Given the description of an element on the screen output the (x, y) to click on. 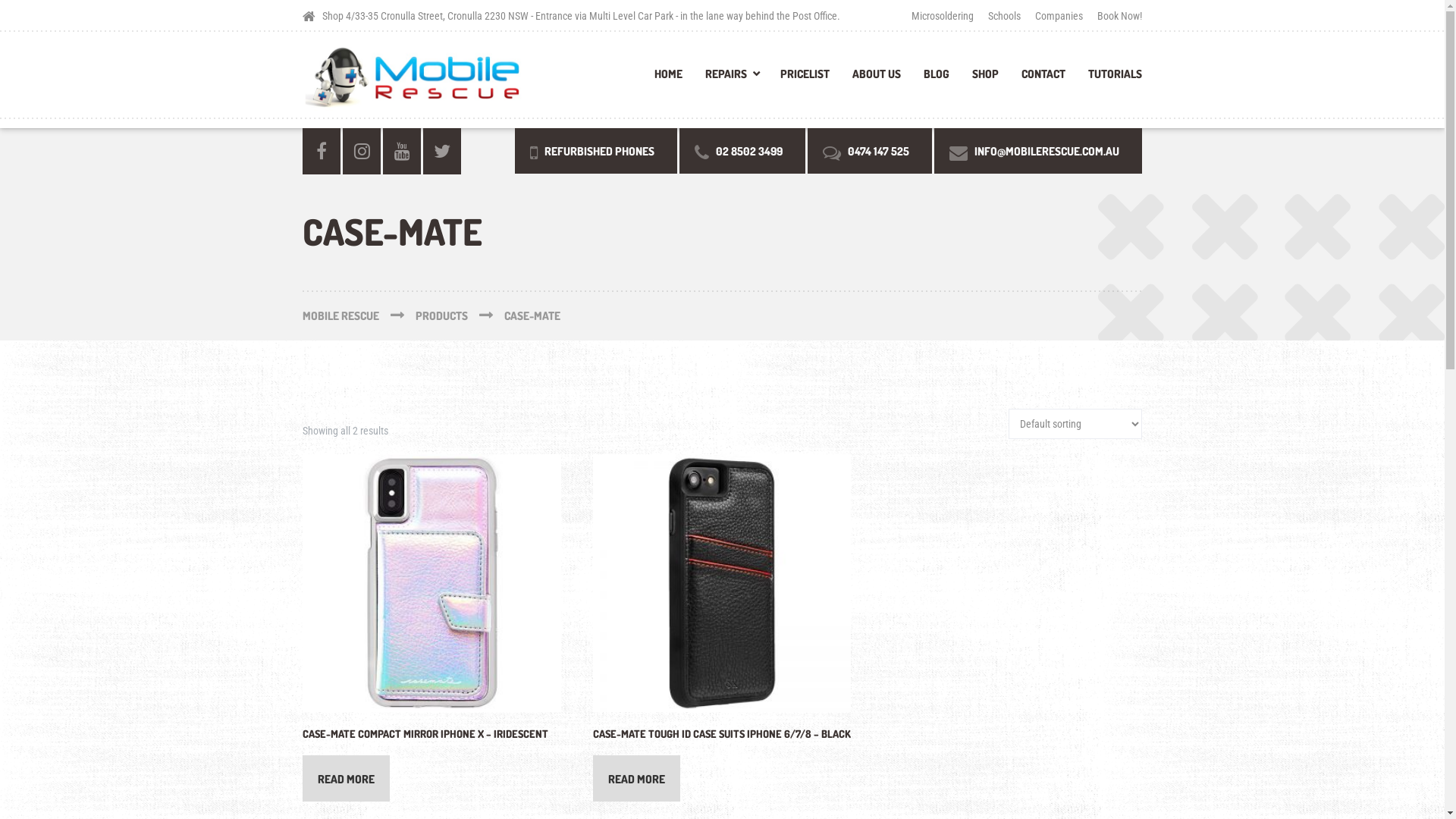
Book Now! Element type: text (1116, 15)
02 8502 3499 Element type: text (742, 149)
TUTORIALS Element type: text (1109, 79)
Schools Element type: text (1004, 15)
MOBILE RESCUE Element type: text (358, 315)
REPAIRS Element type: text (730, 79)
0474 147 525 Element type: text (869, 149)
CONTACT Element type: text (1043, 79)
Microsoldering Element type: text (945, 15)
ABOUT US Element type: text (876, 79)
PRODUCTS Element type: text (459, 315)
READ MORE Element type: text (345, 778)
INFO@MOBILERESCUE.COM.AU Element type: text (1038, 149)
HOME Element type: text (668, 79)
READ MORE Element type: text (636, 778)
BLOG Element type: text (936, 79)
Companies Element type: text (1058, 15)
SHOP Element type: text (985, 79)
PRICELIST Element type: text (804, 79)
